Given the description of an element on the screen output the (x, y) to click on. 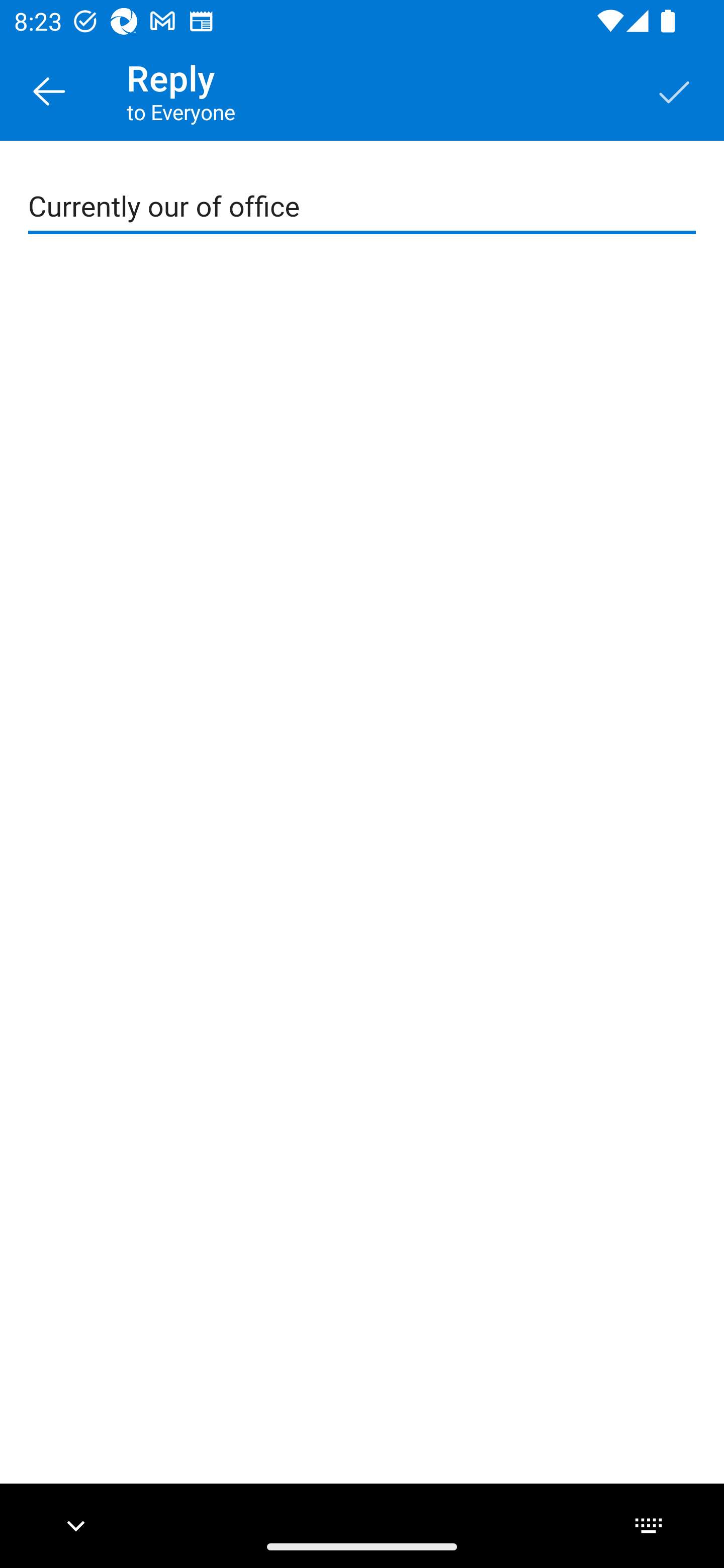
Back (49, 90)
Save (674, 90)
Currently our of office (363, 206)
